Given the description of an element on the screen output the (x, y) to click on. 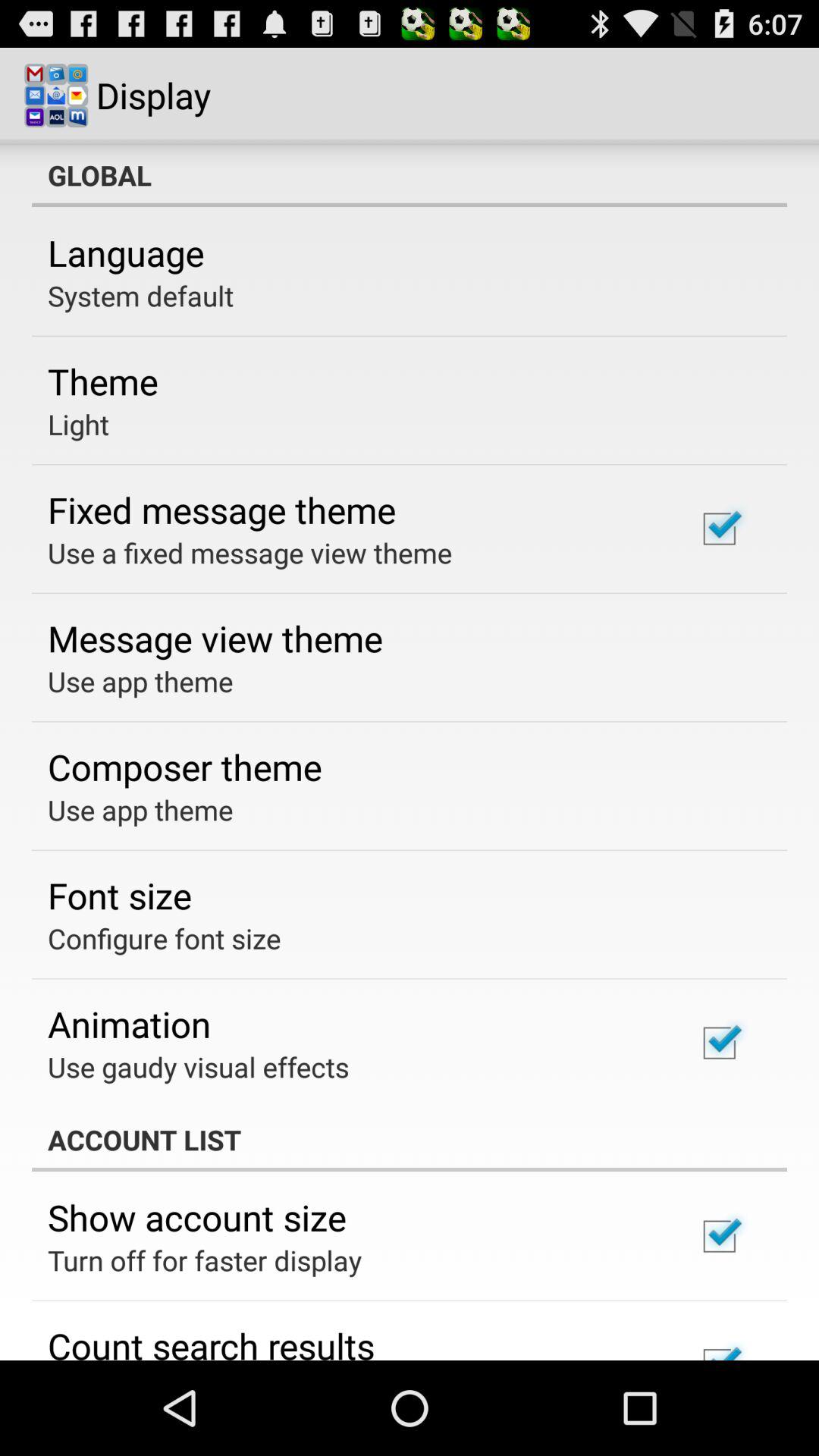
turn off the app below turn off for (210, 1340)
